Given the description of an element on the screen output the (x, y) to click on. 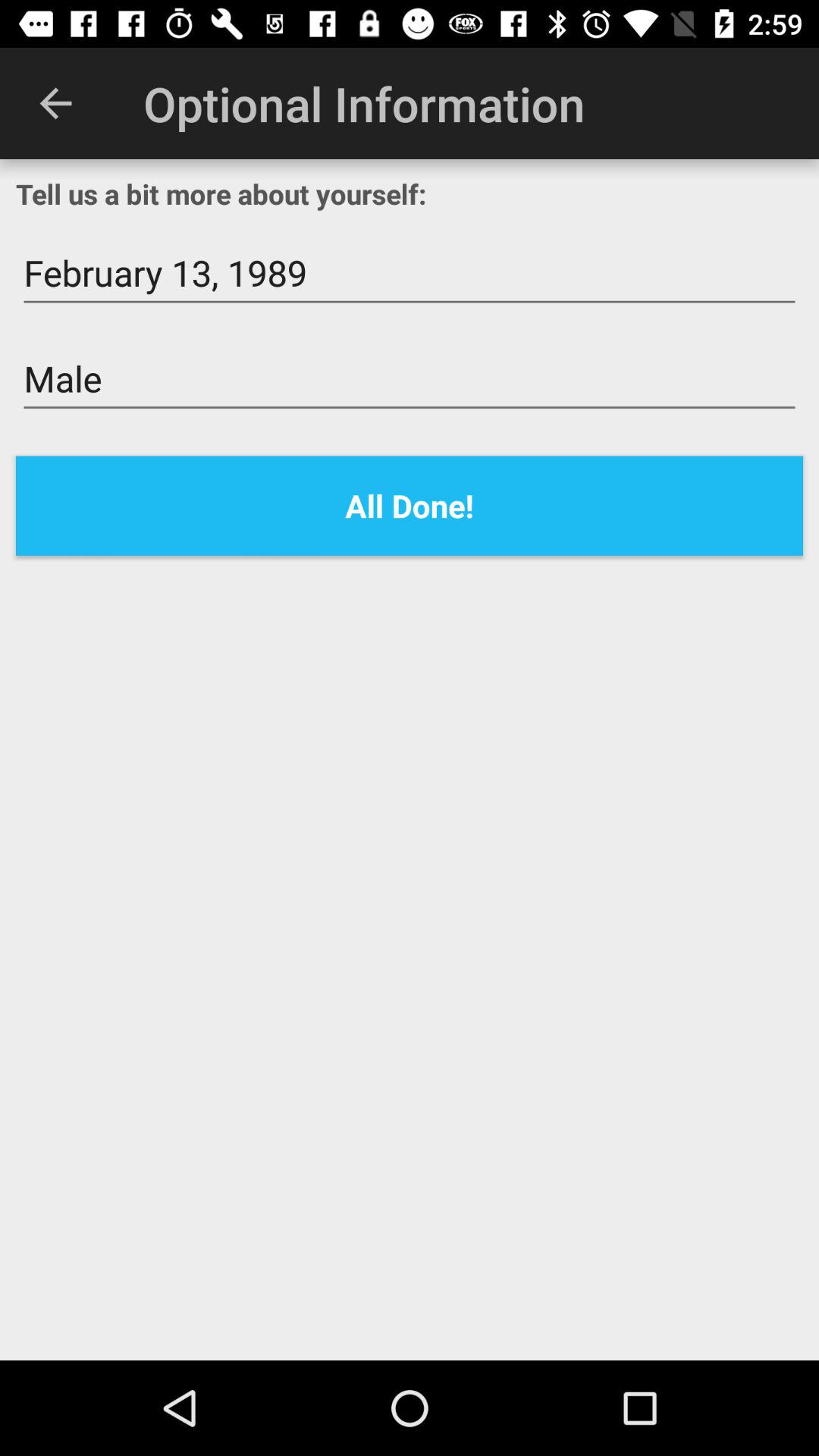
choose the icon below the tell us a (409, 273)
